Given the description of an element on the screen output the (x, y) to click on. 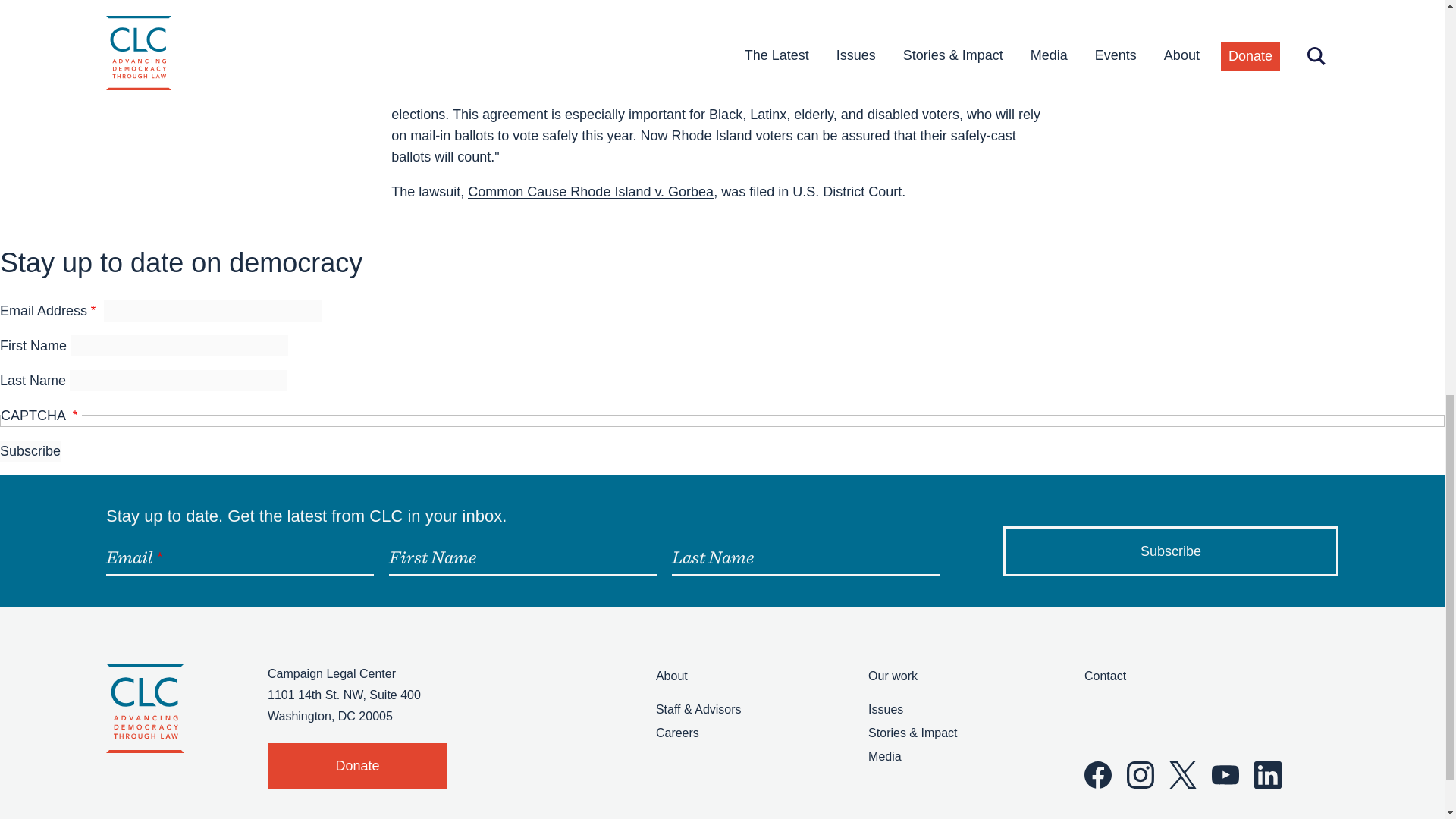
Subscribe (1170, 551)
Common Cause Rhode Island v. Gorbea (590, 191)
About (671, 675)
About CLC (671, 675)
Careers (677, 732)
Subscribe (1170, 551)
Careers (677, 732)
Subscribe (30, 450)
Facebook (1098, 774)
Subscribe (30, 450)
Issues (884, 708)
Donate (356, 765)
Media (884, 756)
Contact (1104, 675)
